Given the description of an element on the screen output the (x, y) to click on. 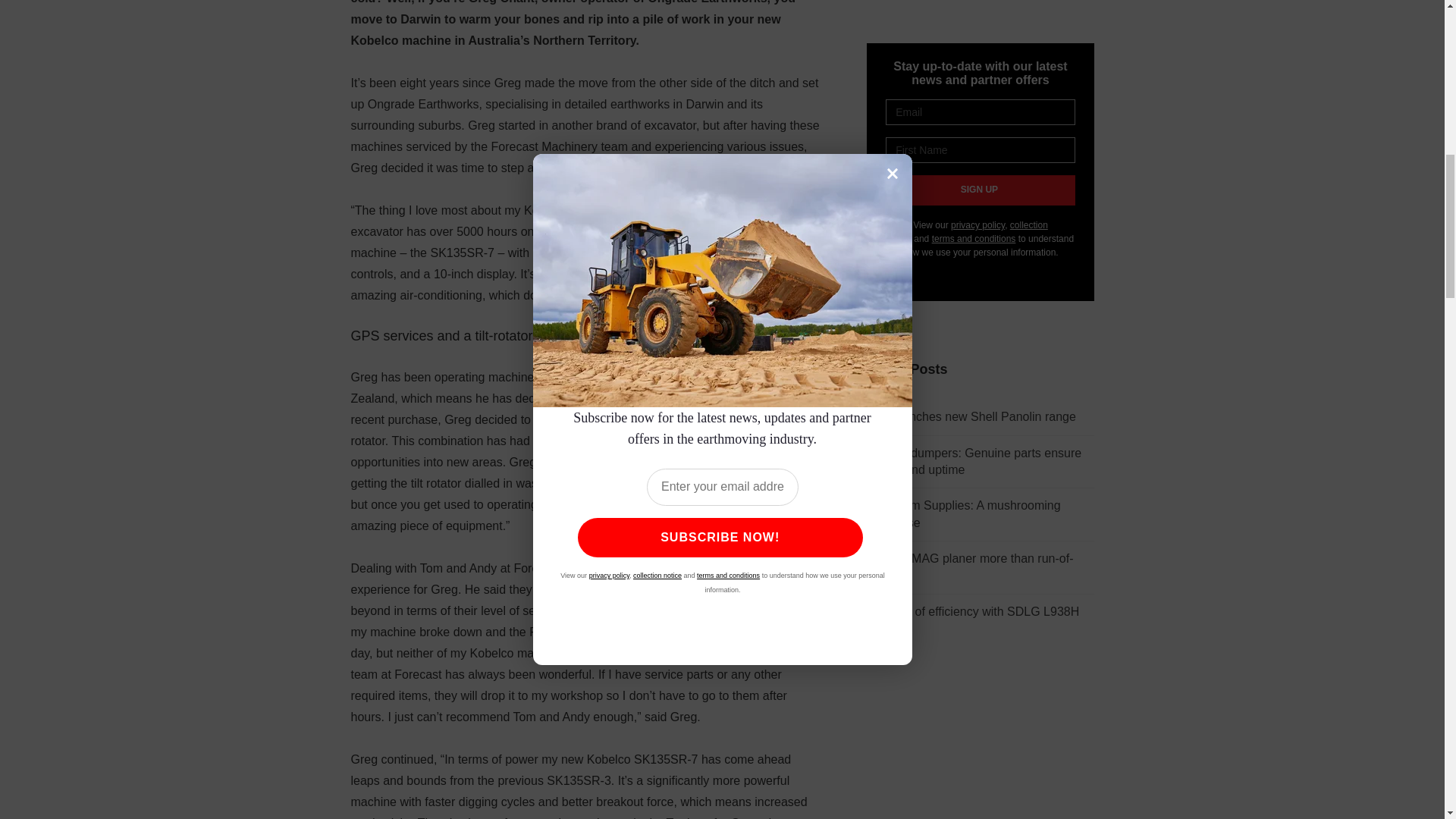
Page 58 (585, 25)
Page 59 (585, 688)
